Given the description of an element on the screen output the (x, y) to click on. 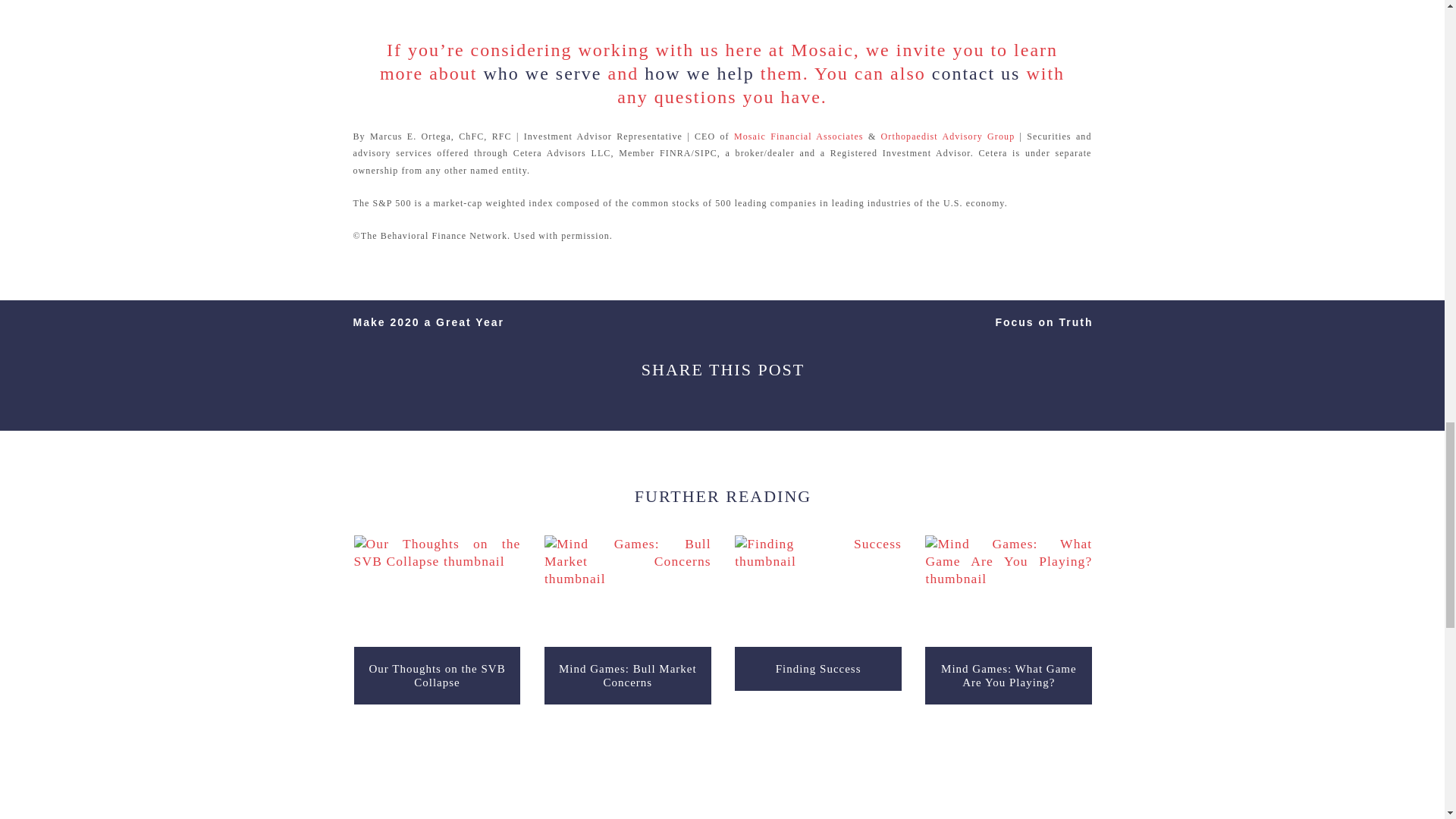
contact us (975, 73)
Our Thoughts on the SVB Collapse (436, 675)
who we serve (542, 73)
read more (437, 591)
Mind Games: Bull Market Concerns (628, 675)
how we help (699, 73)
read more (818, 590)
read more (1008, 591)
Make 2020 a Great Year (428, 322)
Focus on Truth (1043, 322)
